Given the description of an element on the screen output the (x, y) to click on. 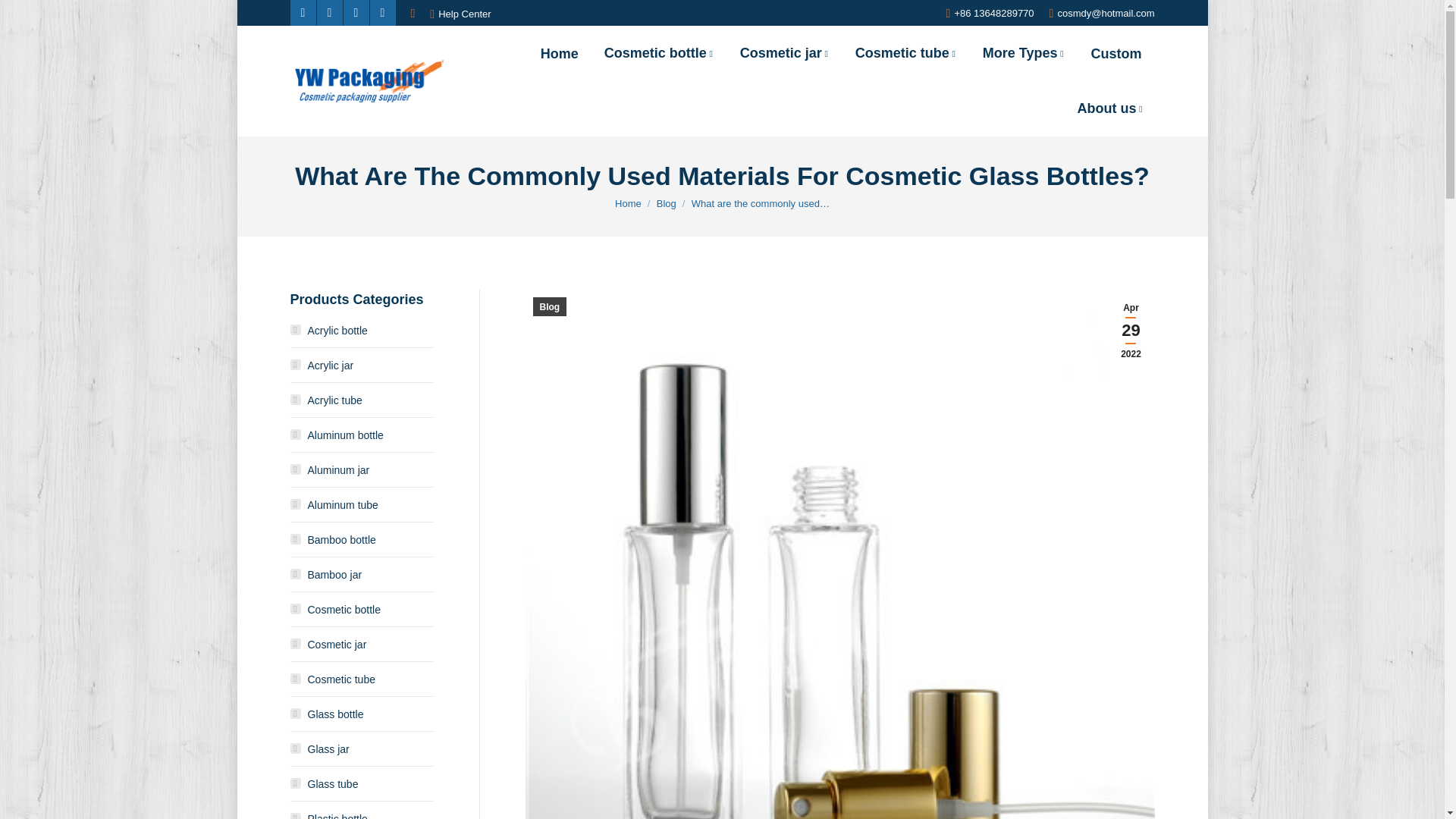
Cosmetic tube (906, 53)
Twitter (329, 12)
Pinterest (355, 12)
Facebook (302, 12)
Cosmetic bottle (659, 53)
YouTube (382, 12)
Twitter (329, 12)
More Types (1023, 53)
Home (559, 53)
Cosmetic jar (784, 53)
